Given the description of an element on the screen output the (x, y) to click on. 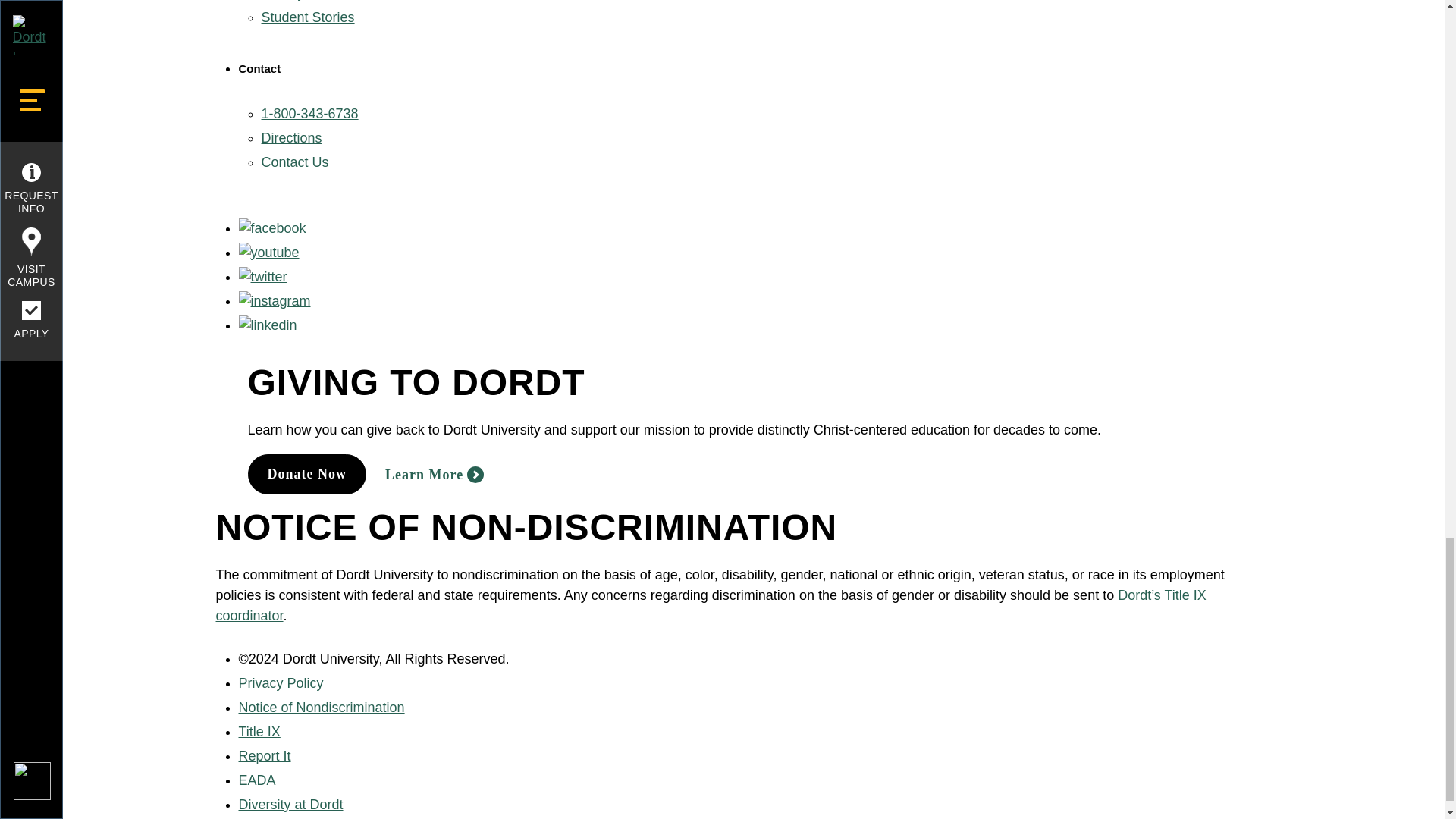
Donate to Dordt University (306, 474)
Learn More About Giving to Dordt (434, 474)
